Given the description of an element on the screen output the (x, y) to click on. 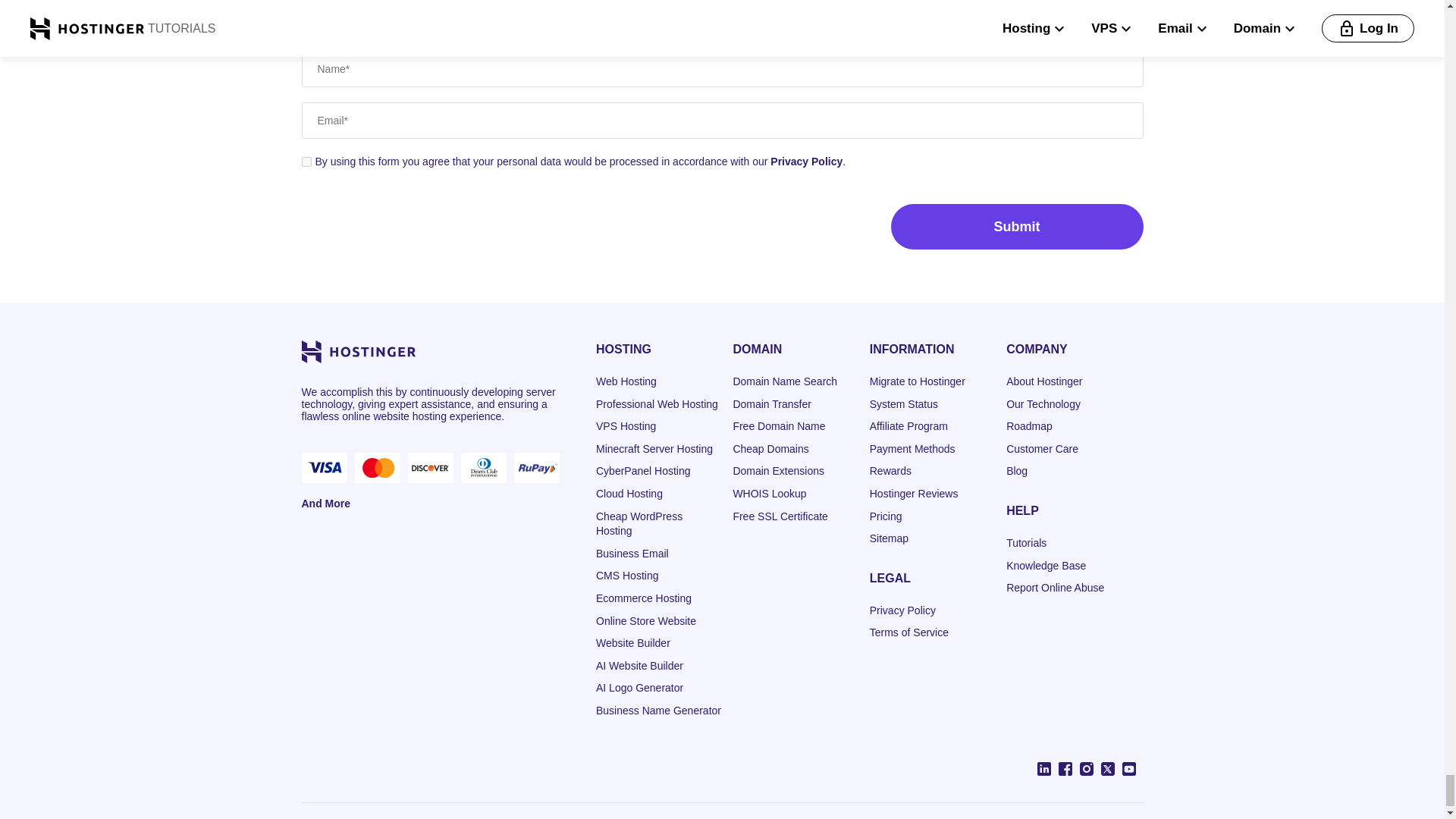
Submit (1015, 226)
yes (306, 162)
